Given the description of an element on the screen output the (x, y) to click on. 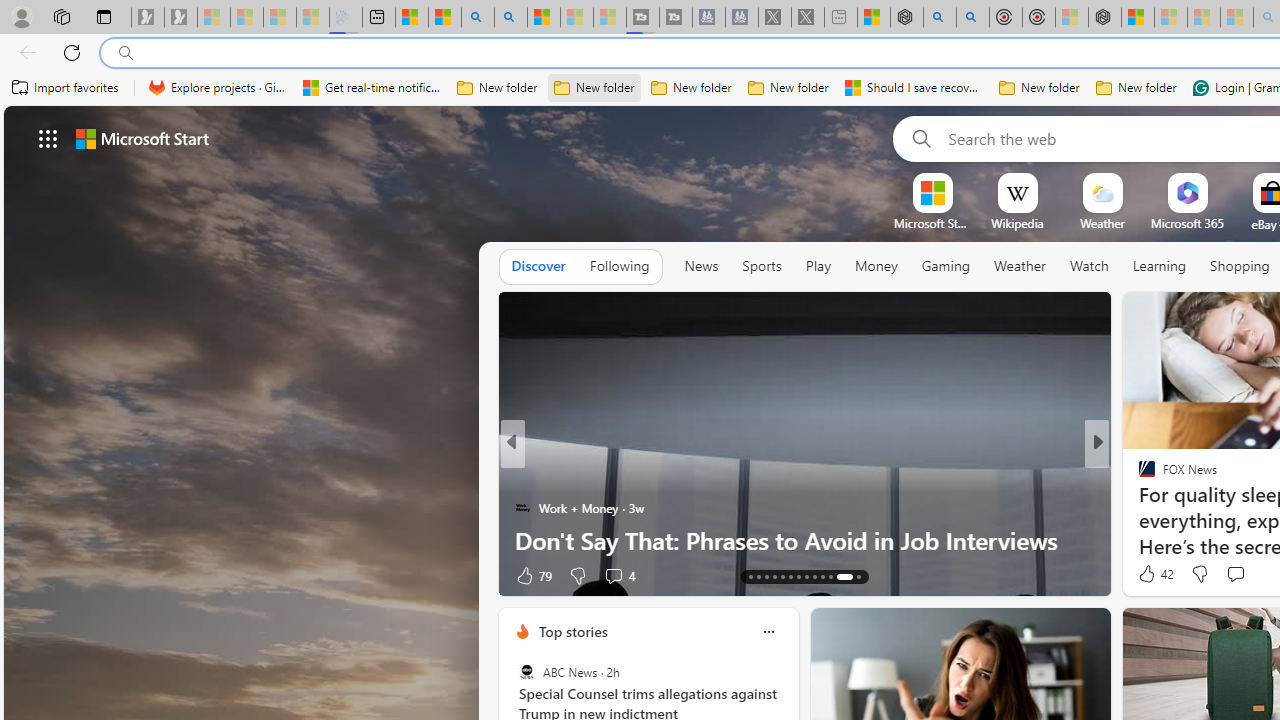
View comments 1 Comment (11, 575)
View comments 3 Comment (11, 575)
Should I save recovered Word documents? - Microsoft Support (913, 88)
New folder (1136, 88)
View comments 4 Comment (618, 574)
AutomationID: tab-15 (765, 576)
Microsoft start (142, 138)
AutomationID: tab-17 (782, 576)
